Given the description of an element on the screen output the (x, y) to click on. 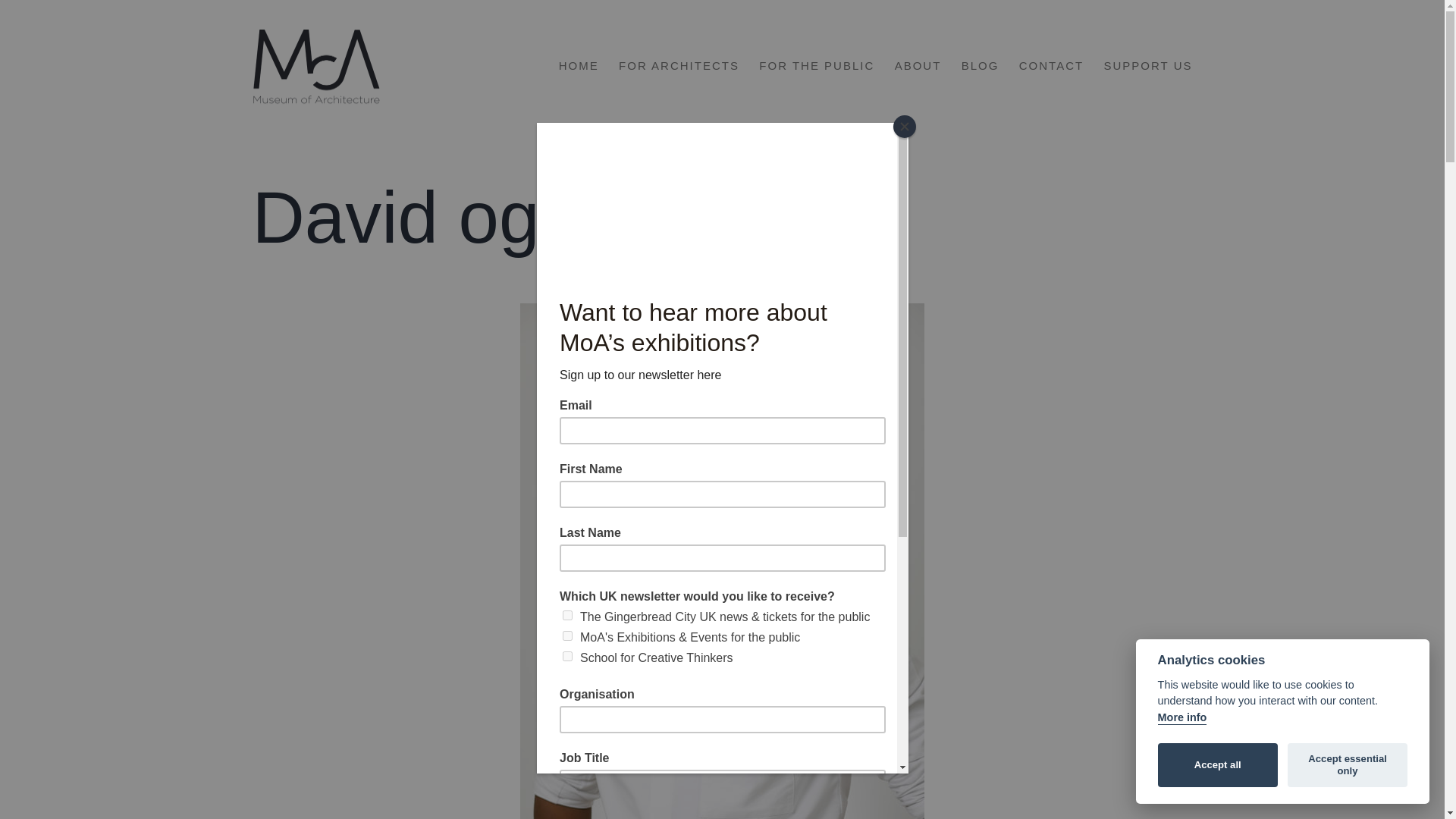
More info (1182, 717)
FOR THE PUBLIC (816, 65)
Accept all (1217, 764)
SUPPORT US (1147, 65)
BLOG (979, 65)
CONTACT (1051, 65)
FOR ARCHITECTS (678, 65)
ABOUT (916, 65)
HOME (578, 65)
